Given the description of an element on the screen output the (x, y) to click on. 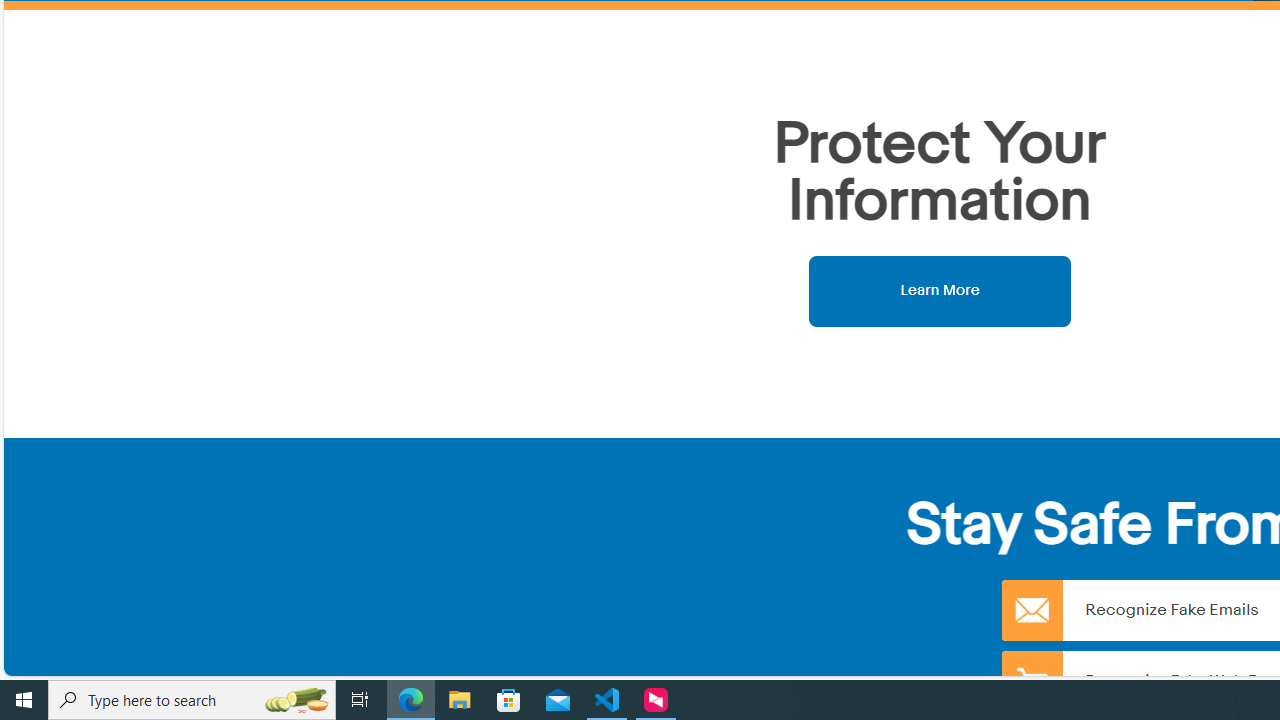
Learn More (939, 290)
